Given the description of an element on the screen output the (x, y) to click on. 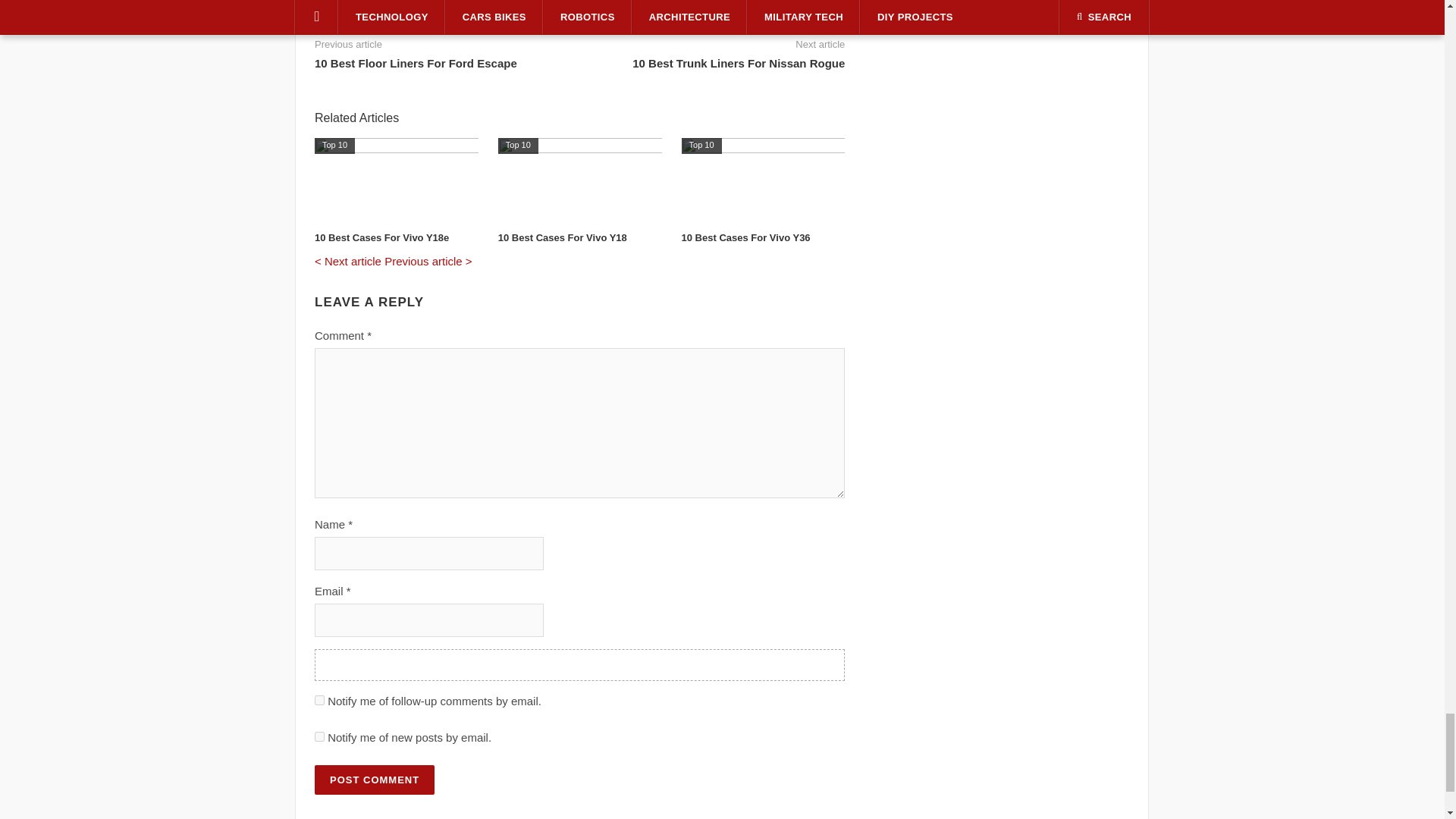
10 Best Cases For Vivo Y18 (579, 179)
10 Best Cases For Vivo Y18e (396, 179)
subscribe (319, 700)
Post Comment (373, 779)
subscribe (319, 737)
